Given the description of an element on the screen output the (x, y) to click on. 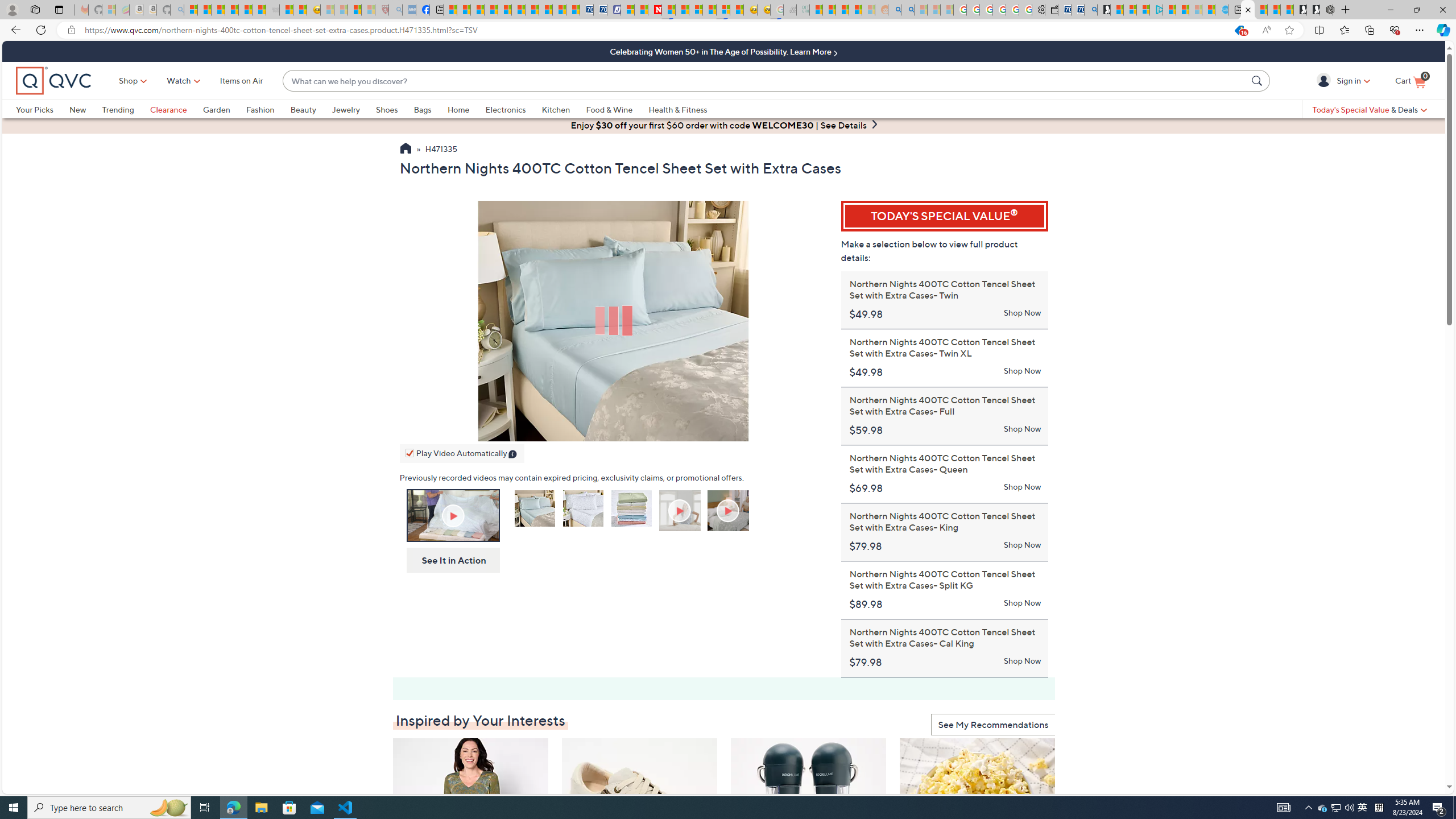
What can we help you discover? (764, 80)
Search Submit (1258, 80)
Kitchen (563, 109)
QVC home (53, 80)
Unmute (777, 430)
Progress Bar (612, 417)
Garden (216, 109)
